Given the description of an element on the screen output the (x, y) to click on. 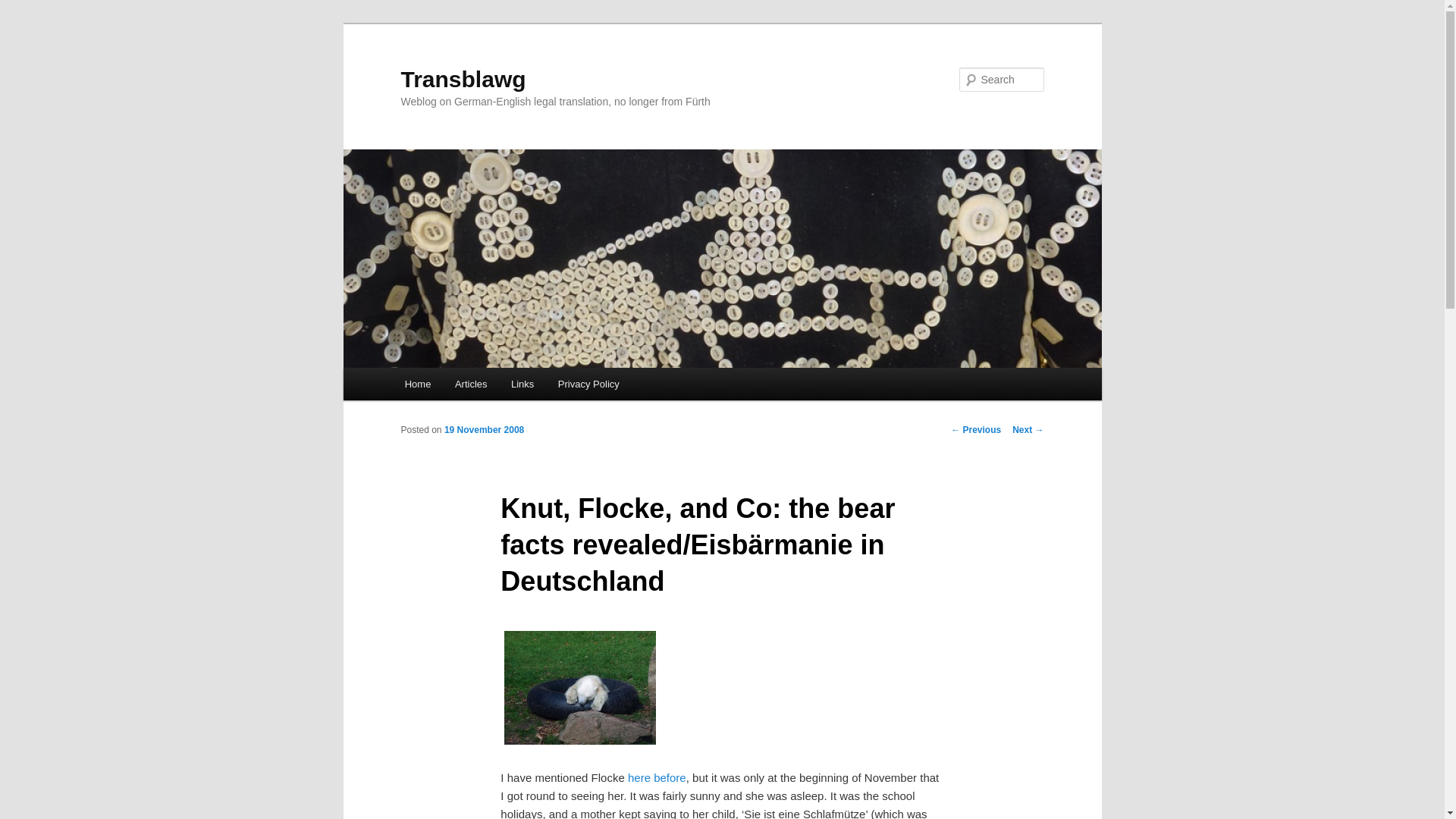
Home (417, 383)
Privacy Policy (588, 383)
19 November 2008 (484, 429)
Transblawg (462, 78)
before (669, 777)
Articles (470, 383)
Search (24, 8)
Links (522, 383)
here (638, 777)
